Given the description of an element on the screen output the (x, y) to click on. 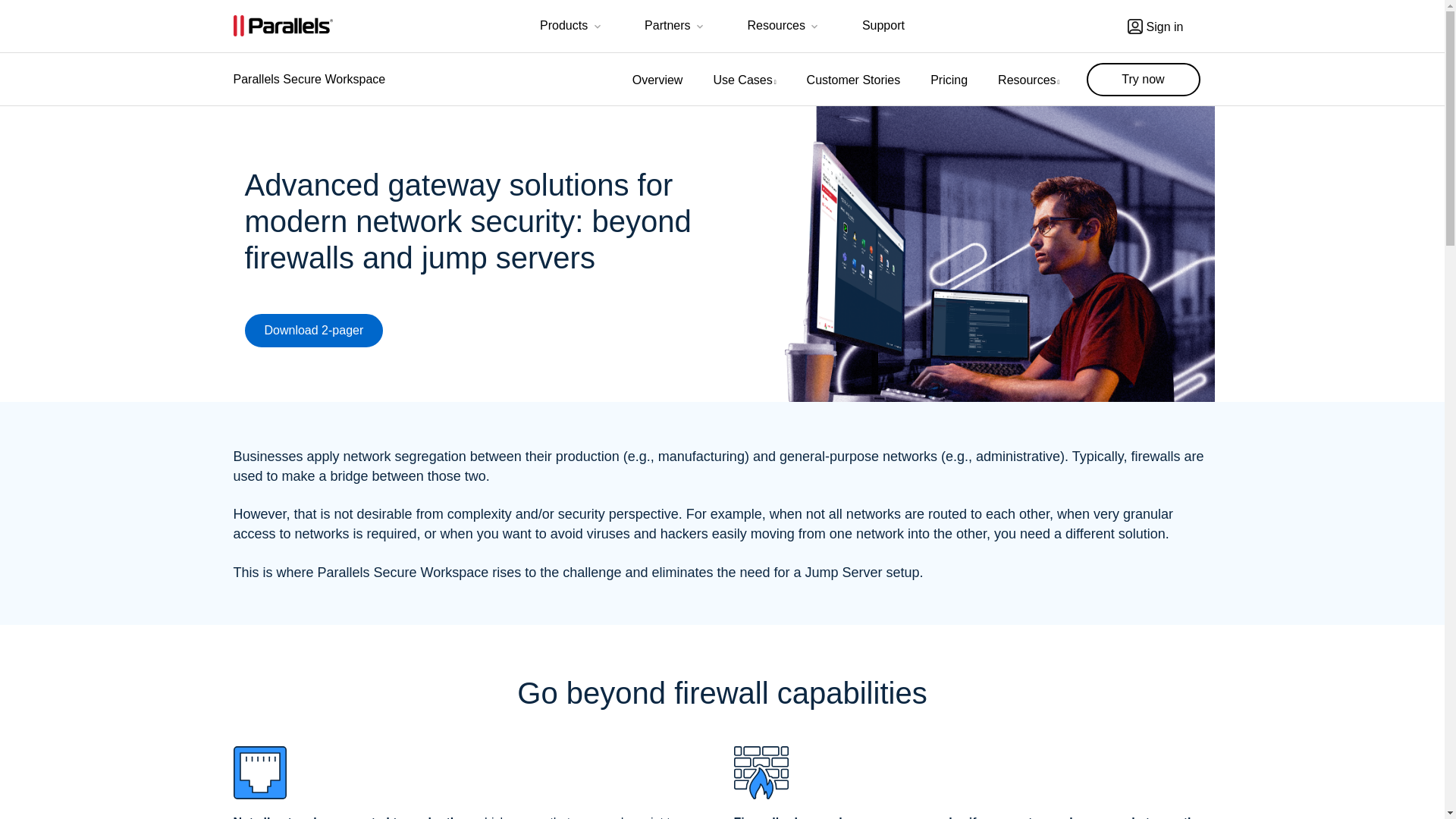
Resources (784, 27)
Products (572, 27)
Parallels PWS - Try now (1142, 79)
Partners (675, 27)
Parallels (282, 25)
